Given the description of an element on the screen output the (x, y) to click on. 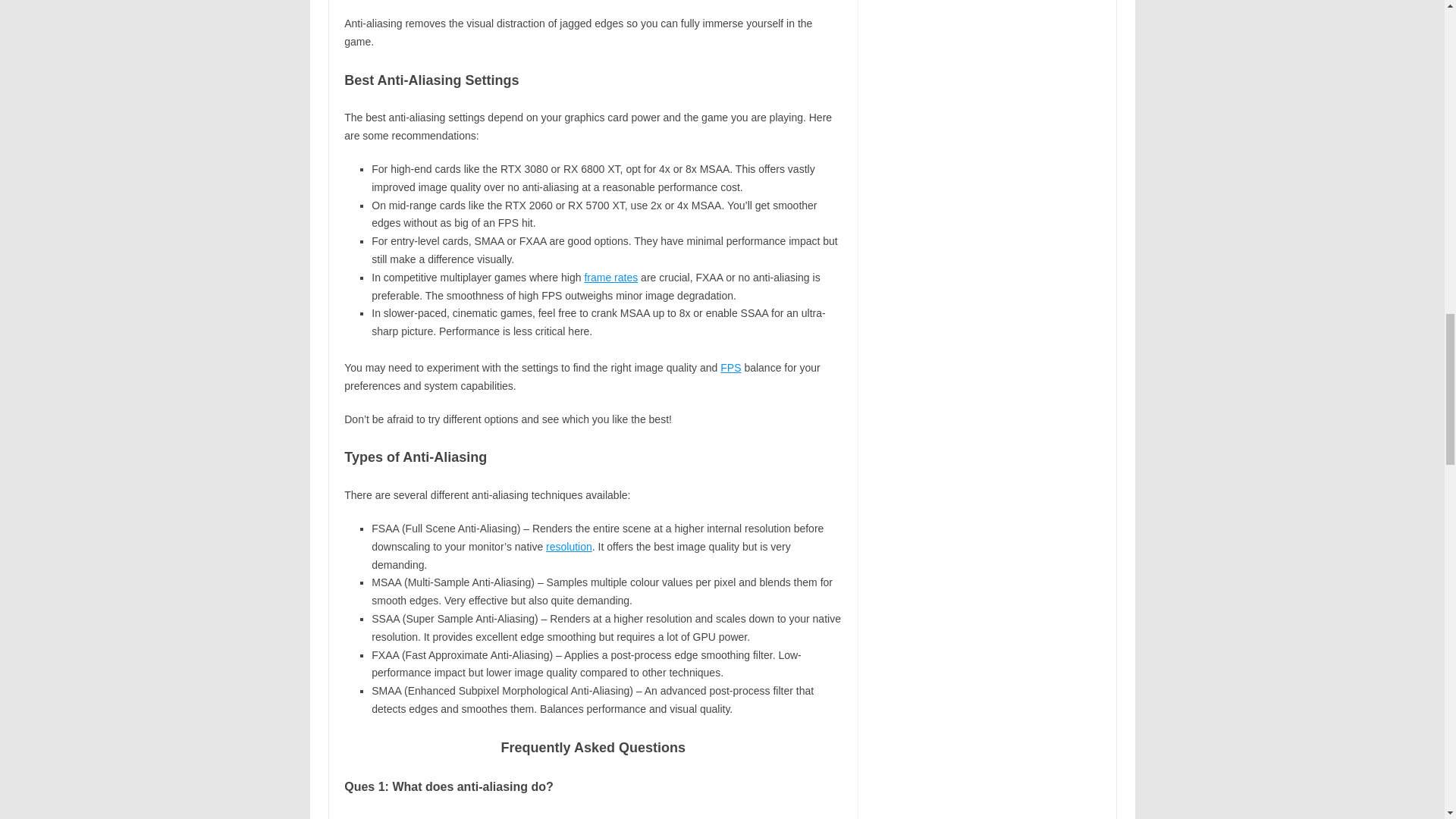
resolution (569, 546)
FPS (730, 367)
frame rates (610, 277)
